Given the description of an element on the screen output the (x, y) to click on. 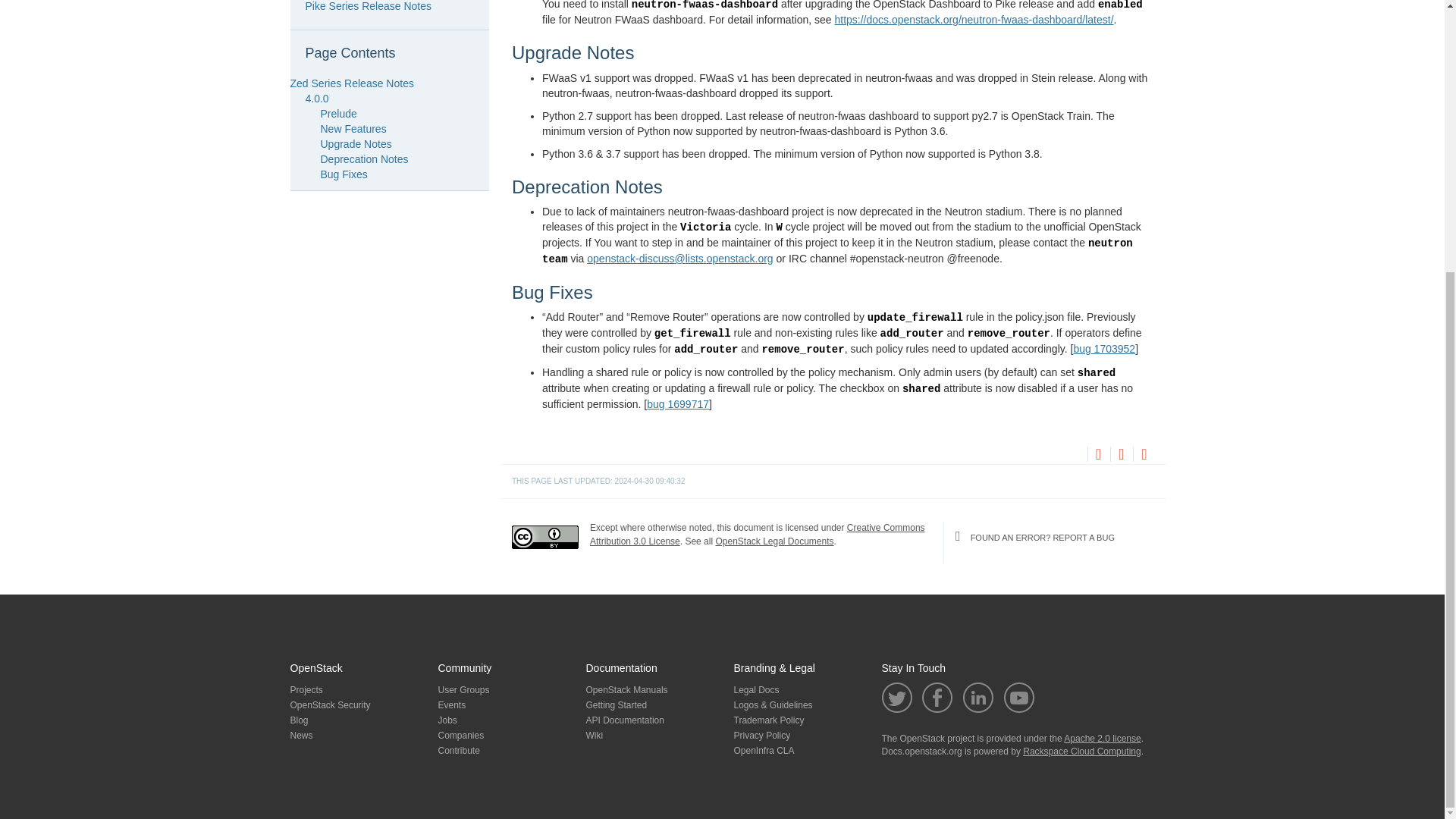
Found an error? Report a bug against this page (1143, 455)
